Given the description of an element on the screen output the (x, y) to click on. 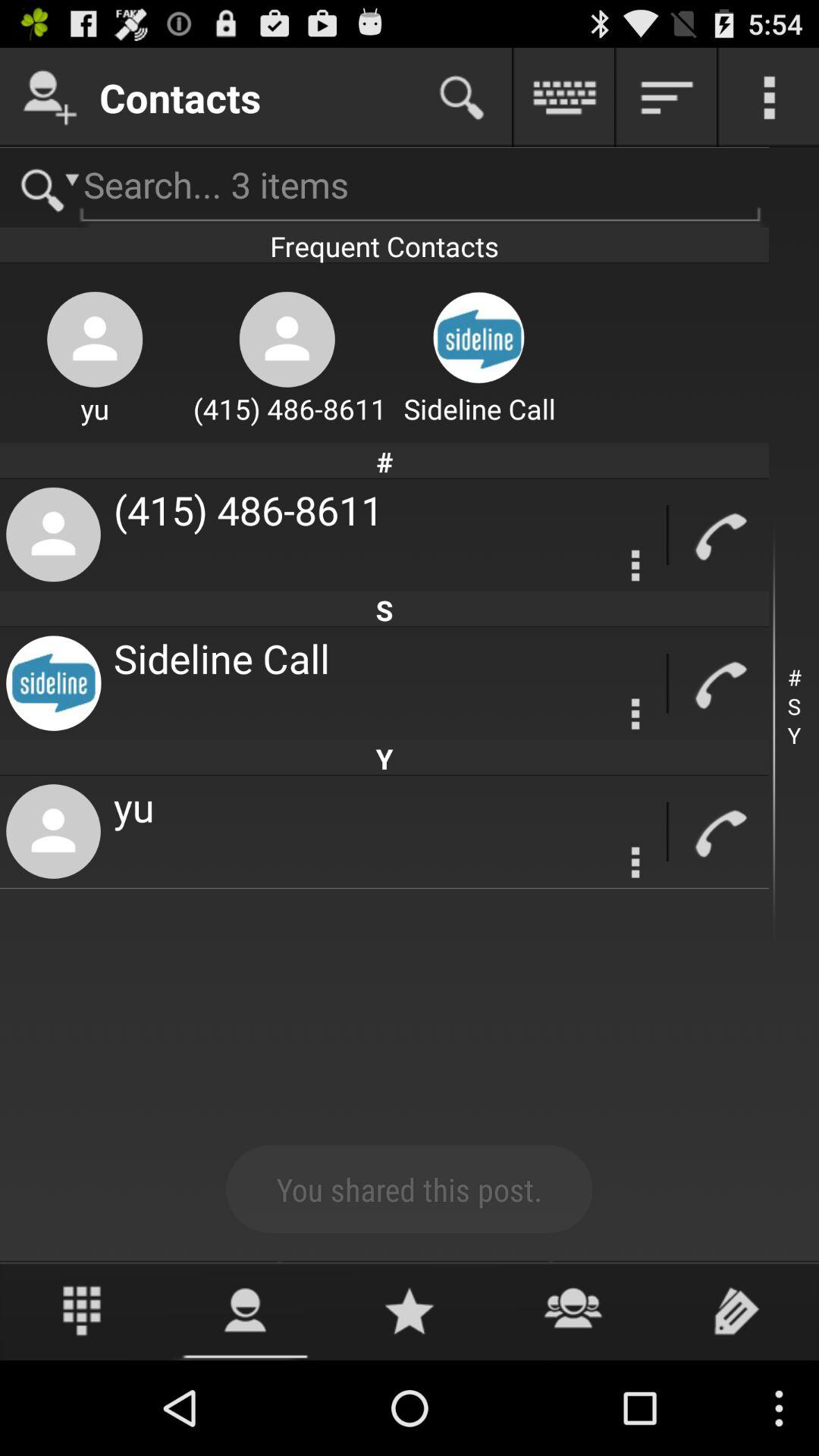
search for contact (384, 187)
